Given the description of an element on the screen output the (x, y) to click on. 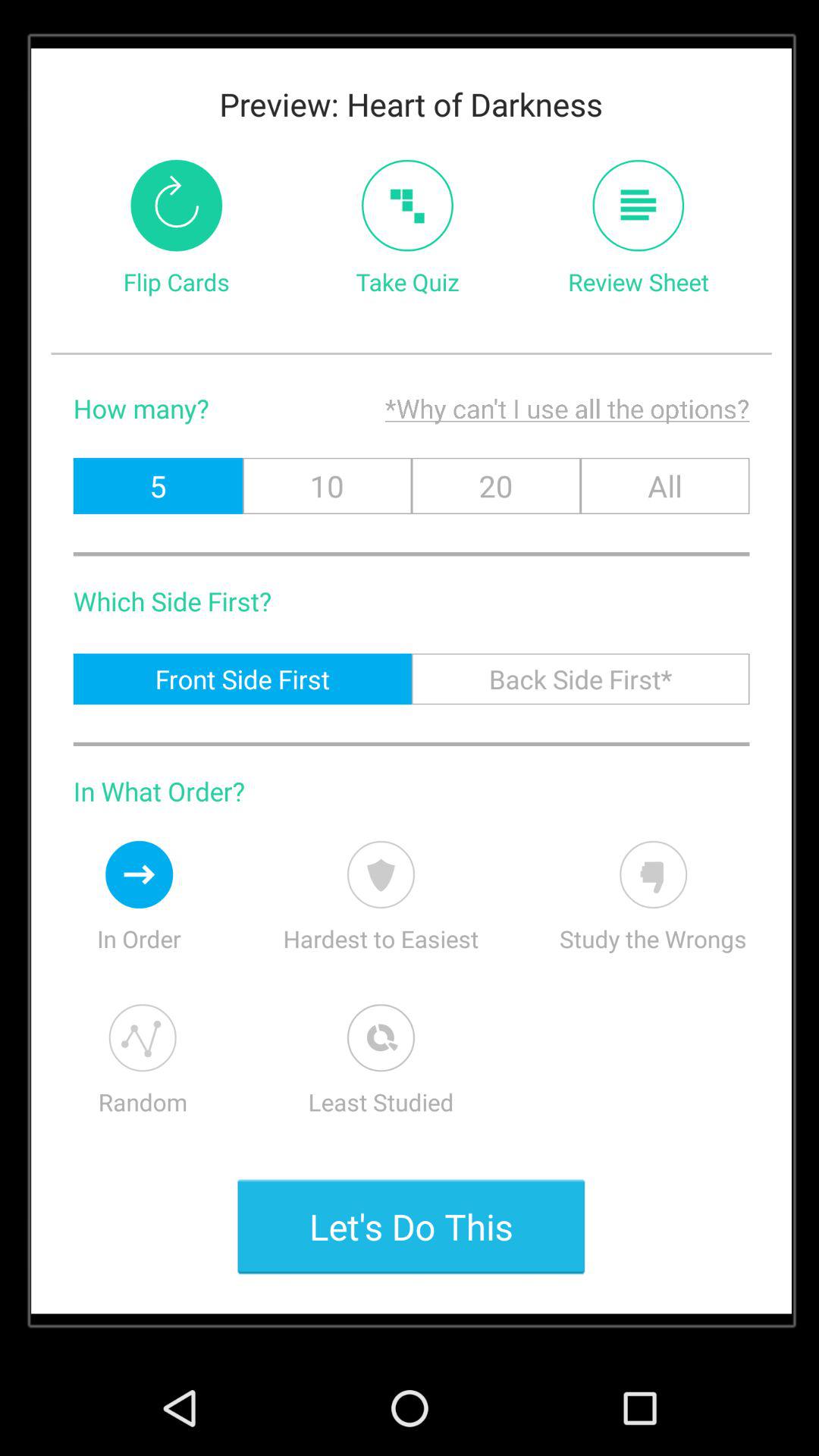
press icon to the left of the take quiz item (176, 205)
